Given the description of an element on the screen output the (x, y) to click on. 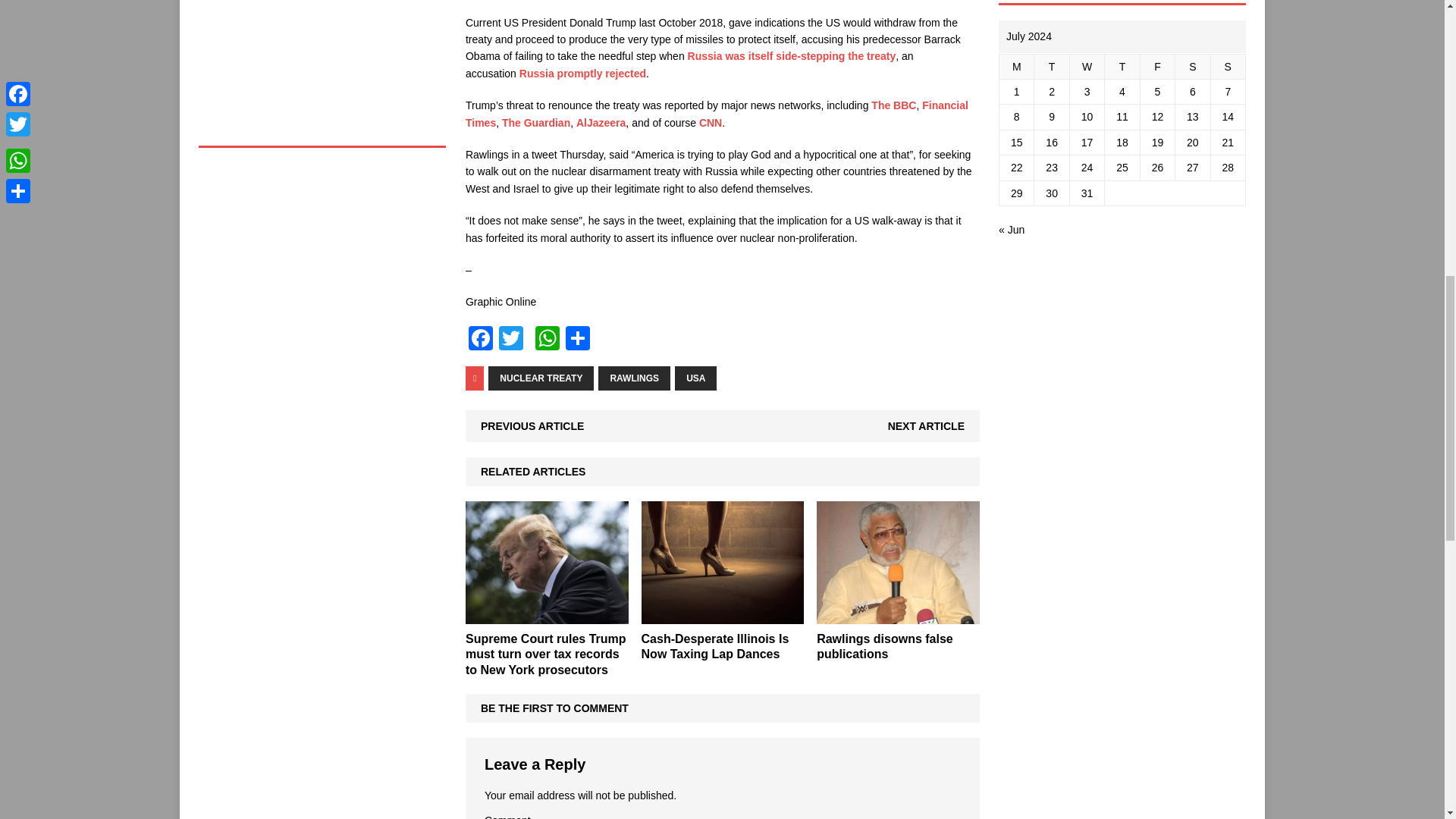
Cash-Desperate Illinois Is Now Taxing Lap Dances (723, 614)
Rawlings disowns false publications (897, 614)
Facebook (480, 339)
Twitter (510, 339)
WhatsApp (547, 339)
Rawlings disowns false publications (884, 646)
Cash-Desperate Illinois Is Now Taxing Lap Dances (715, 646)
